Given the description of an element on the screen output the (x, y) to click on. 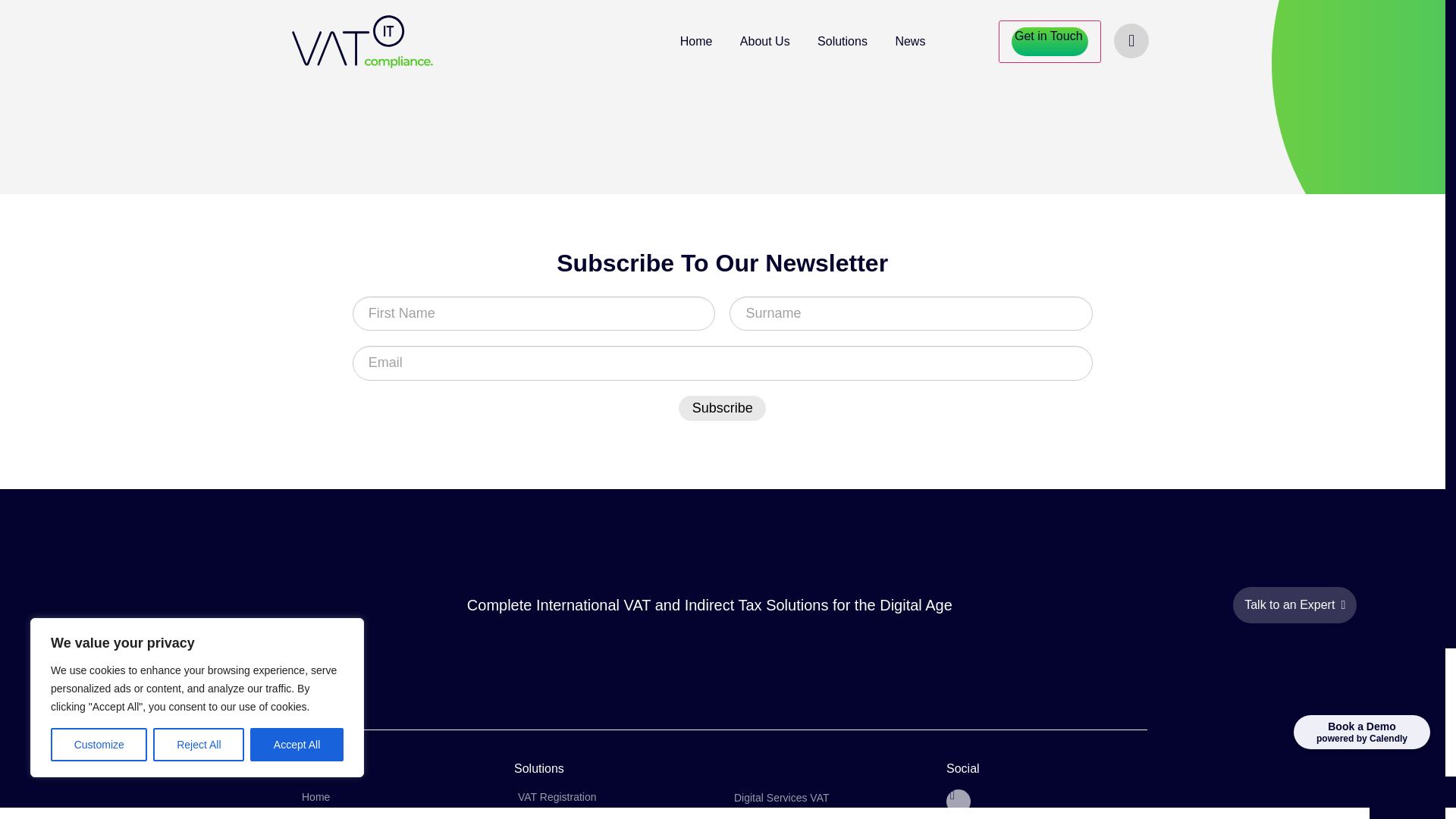
Subscribe (721, 407)
